Given the description of an element on the screen output the (x, y) to click on. 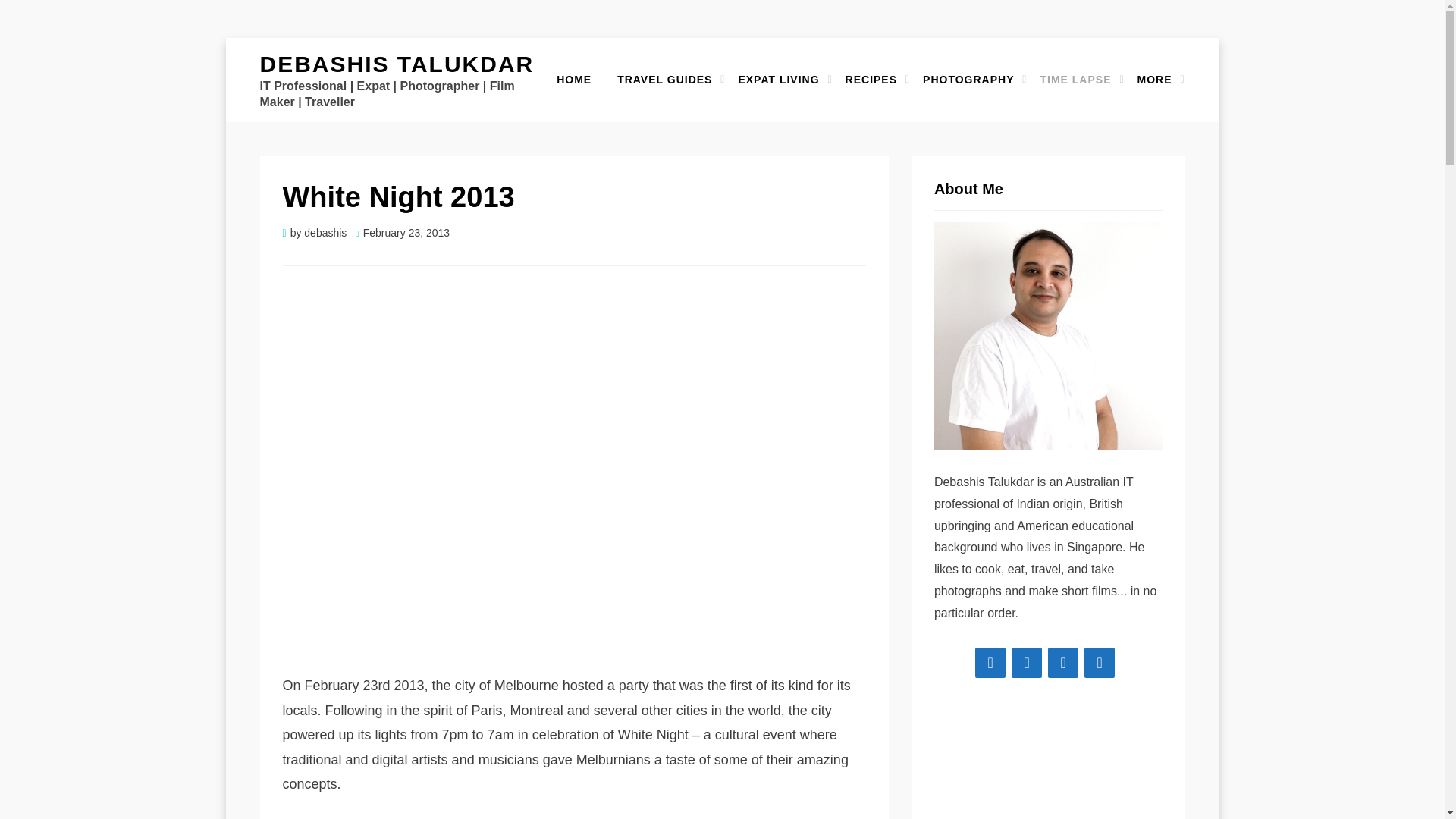
EXPAT LIVING (778, 79)
Instagram (1026, 662)
Facebook (990, 662)
Debashis Talukdar (396, 63)
RECIPES (871, 79)
HOME (573, 79)
DEBASHIS TALUKDAR (396, 63)
500px (1099, 662)
TRAVEL GUIDES (664, 79)
YouTube (1063, 662)
